Given the description of an element on the screen output the (x, y) to click on. 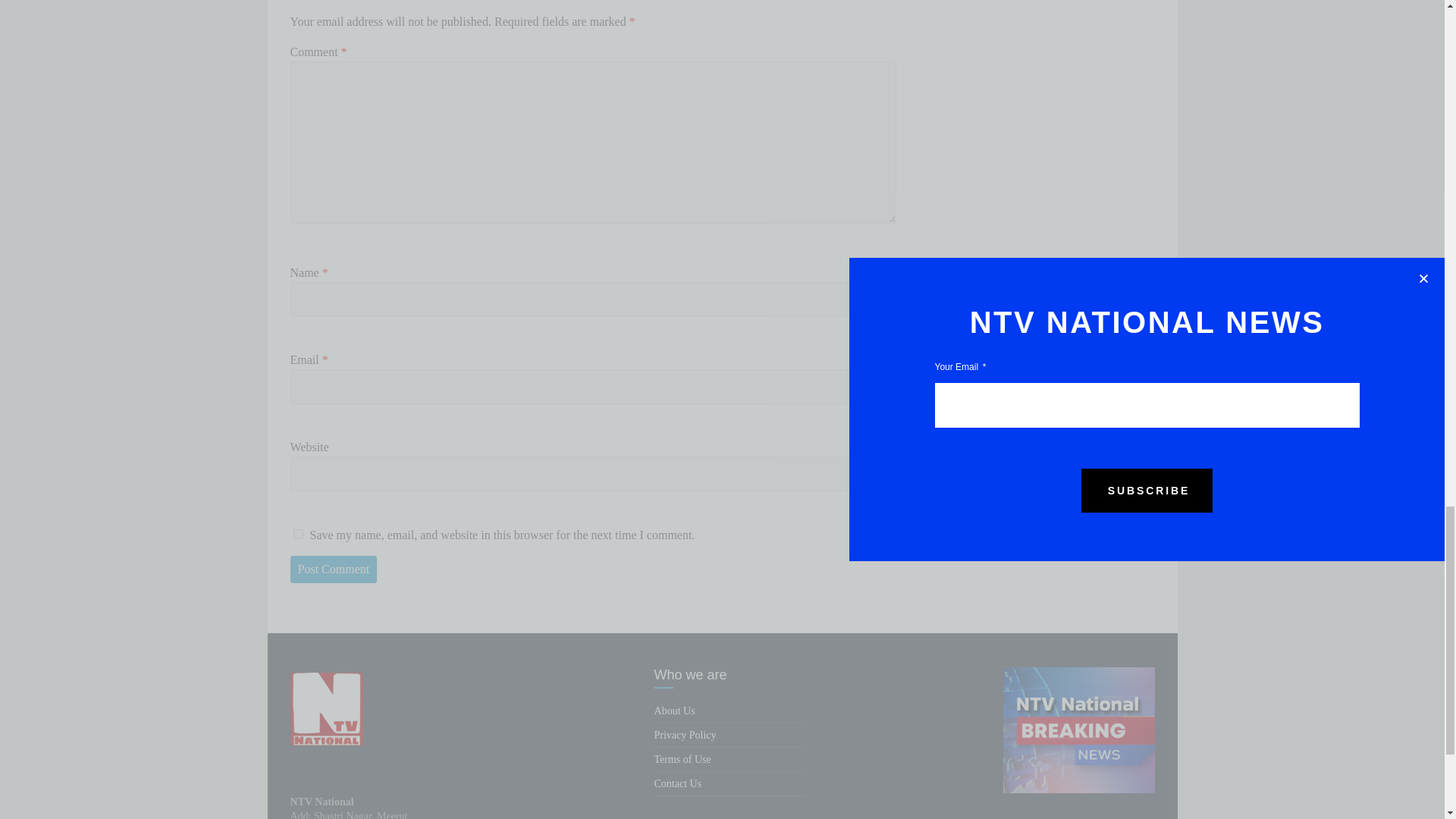
yes (297, 533)
Post Comment (333, 569)
